Given the description of an element on the screen output the (x, y) to click on. 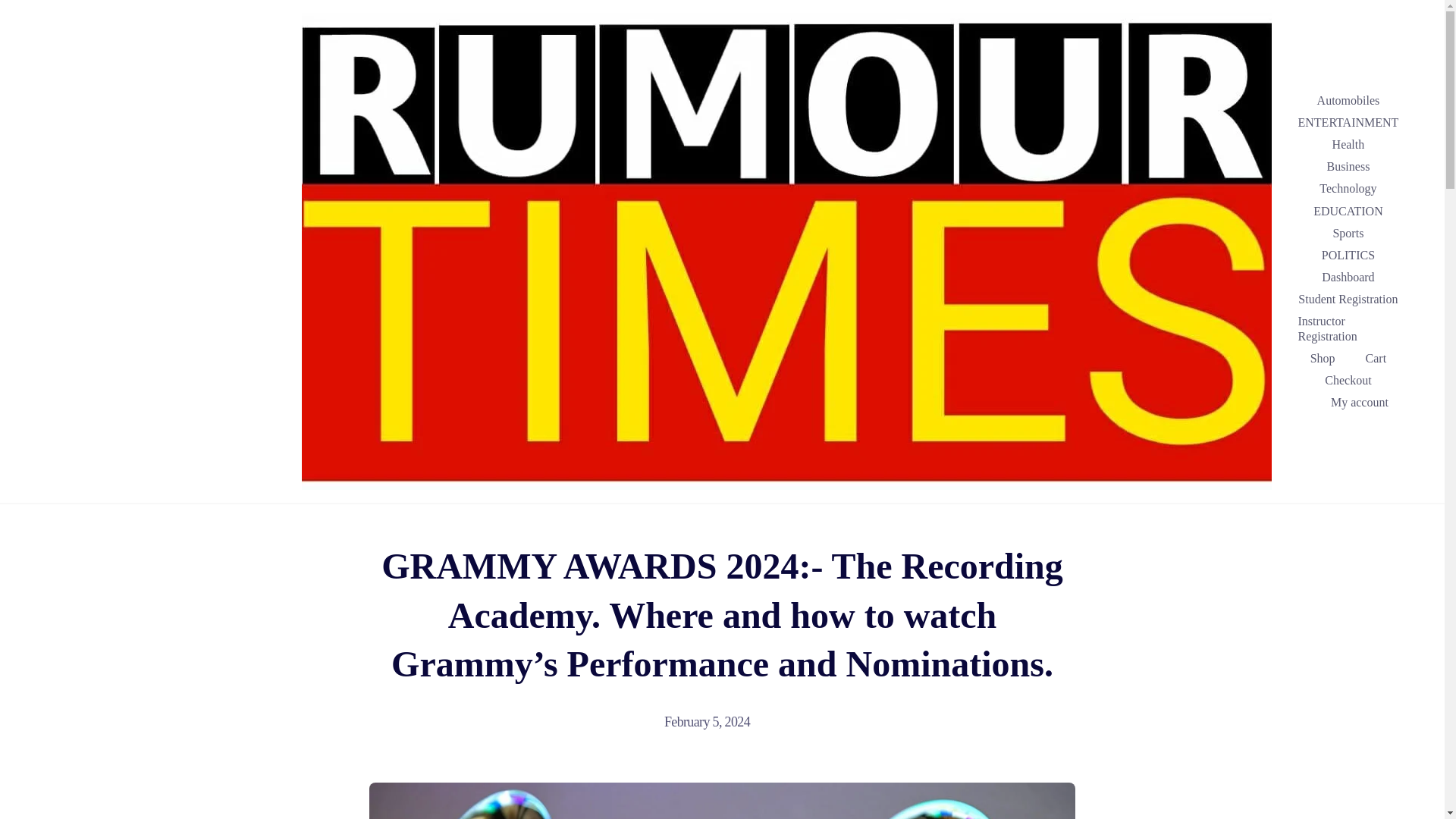
February 5, 2024 (714, 721)
Business (1347, 166)
Dashboard (1347, 277)
Student Registration (1347, 299)
Cart (1375, 358)
My account (1358, 402)
Shop (1322, 358)
Sports (1347, 232)
Instructor Registration (1348, 328)
EDUCATION (1347, 210)
